Given the description of an element on the screen output the (x, y) to click on. 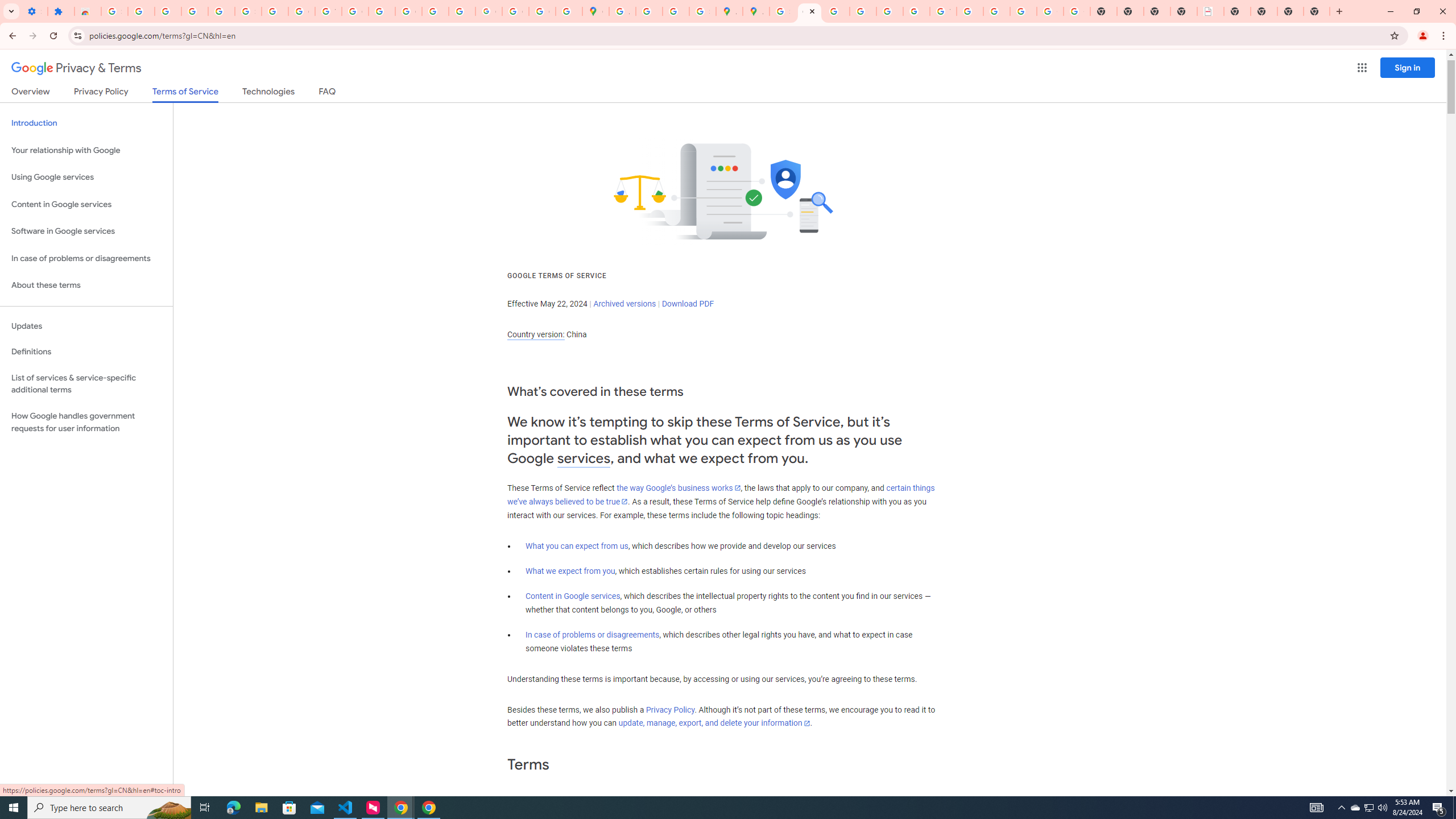
Your relationship with Google (86, 150)
New Tab (1316, 11)
Software in Google services (86, 230)
List of services & service-specific additional terms (86, 383)
How Google handles government requests for user information (86, 422)
New Tab (1236, 11)
